Given the description of an element on the screen output the (x, y) to click on. 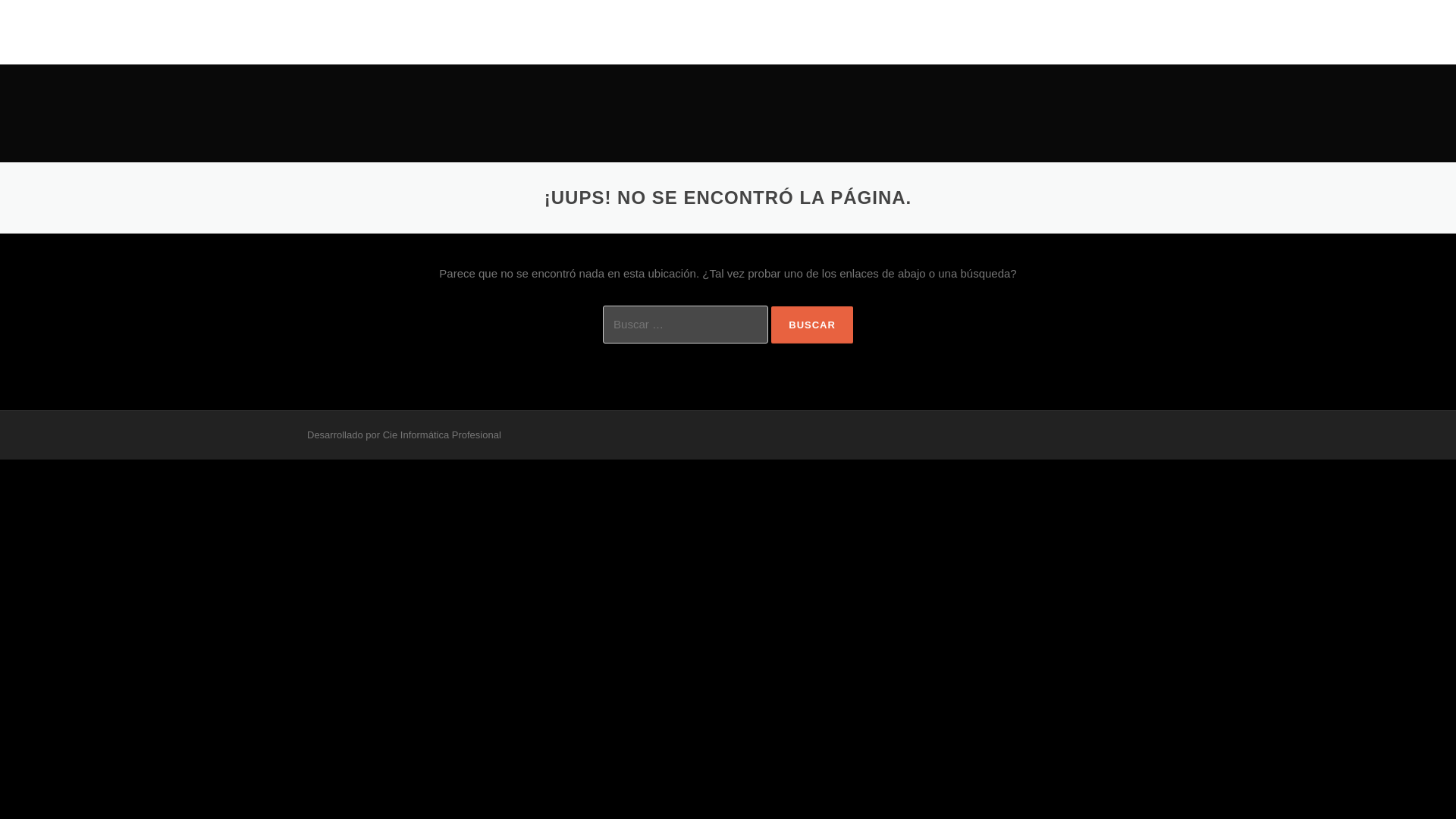
Saltar al contenido (775, 9)
Buscar (812, 324)
Buscar (812, 324)
Buscar (812, 324)
Screenr parallax theme (358, 434)
